Given the description of an element on the screen output the (x, y) to click on. 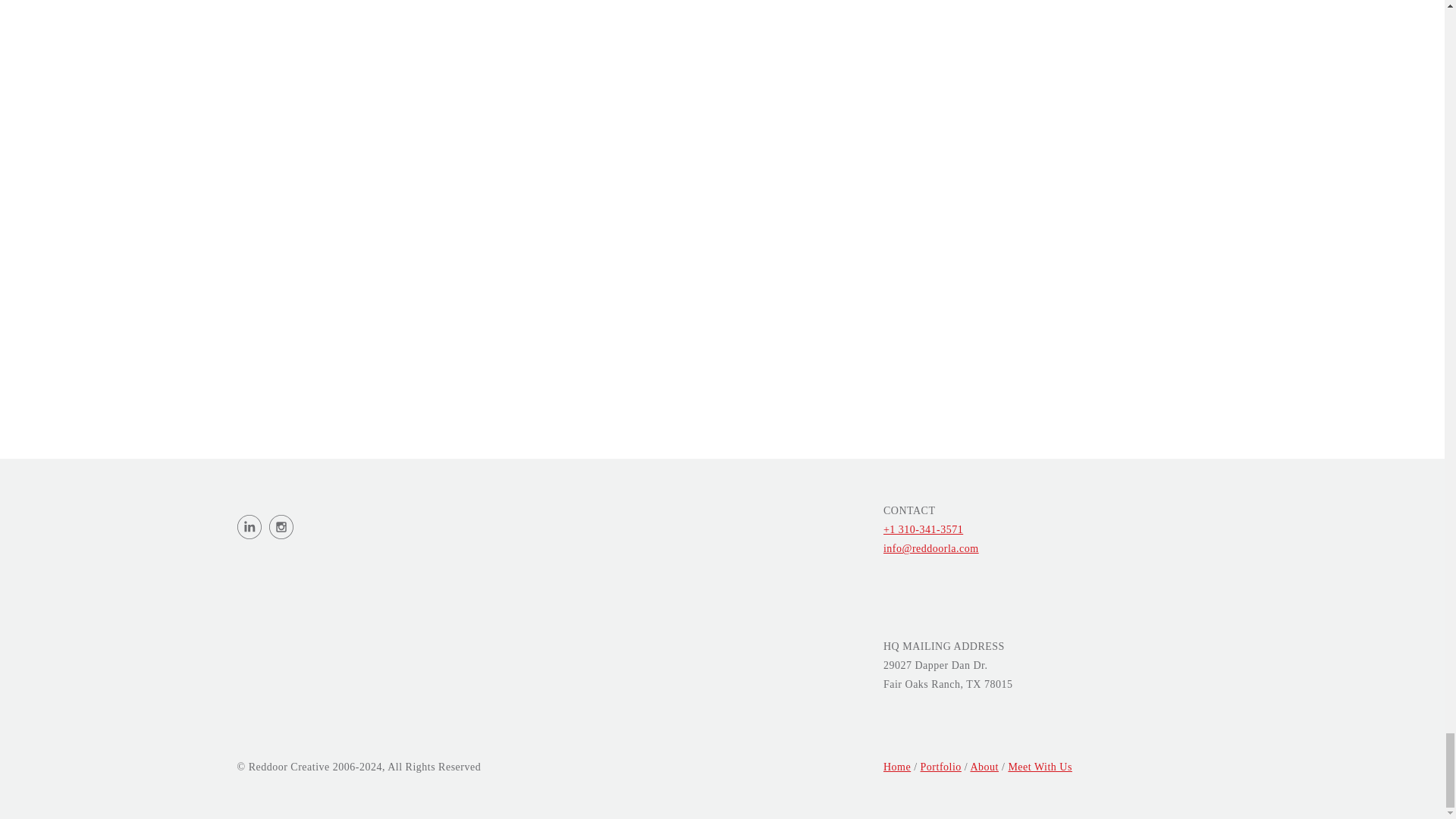
MEET WITH US (1318, 126)
Home (897, 767)
Visit us on Instagram (279, 530)
Portfolio (940, 767)
Visit us on LinkedIn Company (251, 530)
About (983, 767)
Meet With Us (1039, 767)
